Given the description of an element on the screen output the (x, y) to click on. 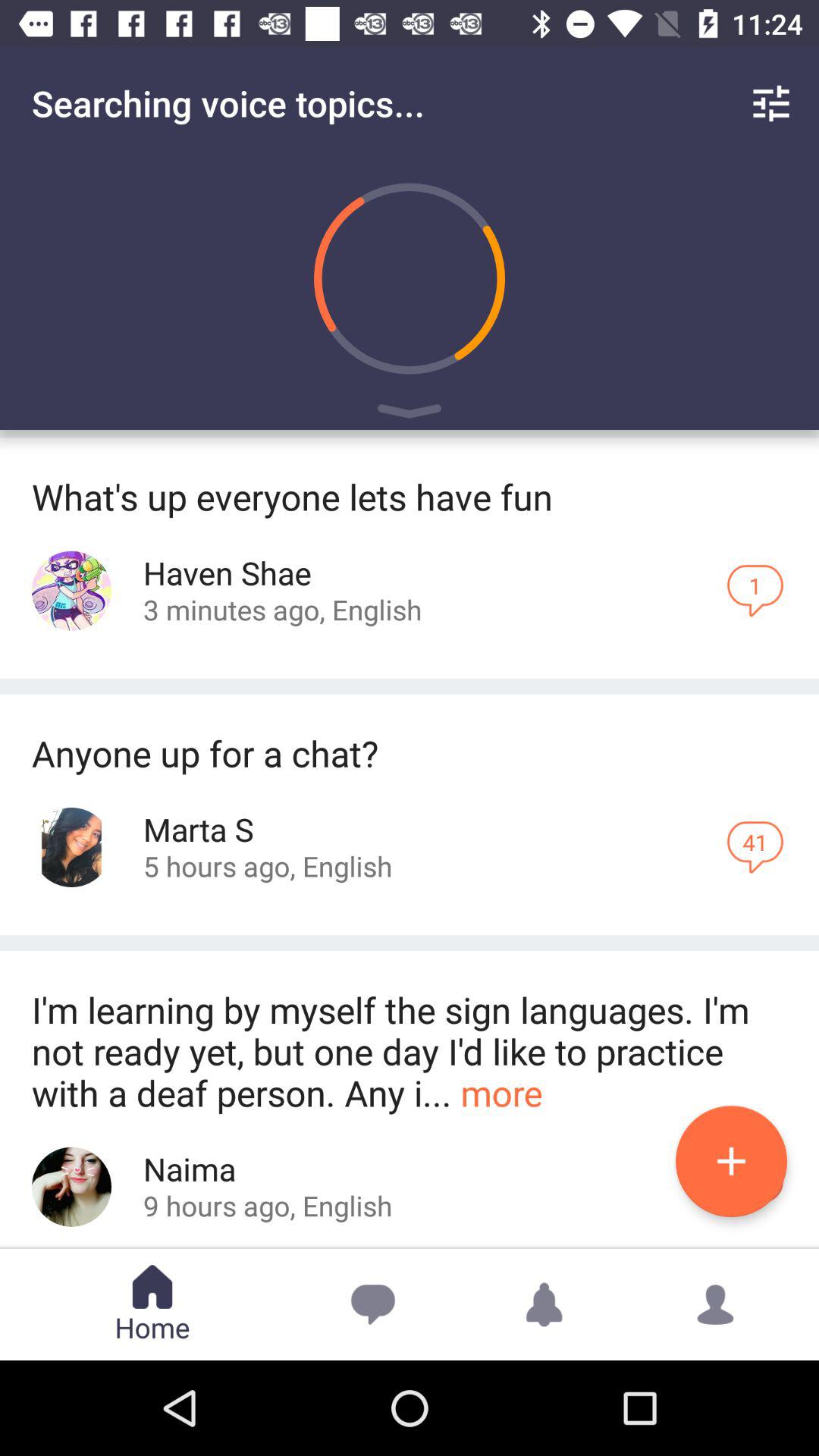
go to profile (71, 1186)
